Given the description of an element on the screen output the (x, y) to click on. 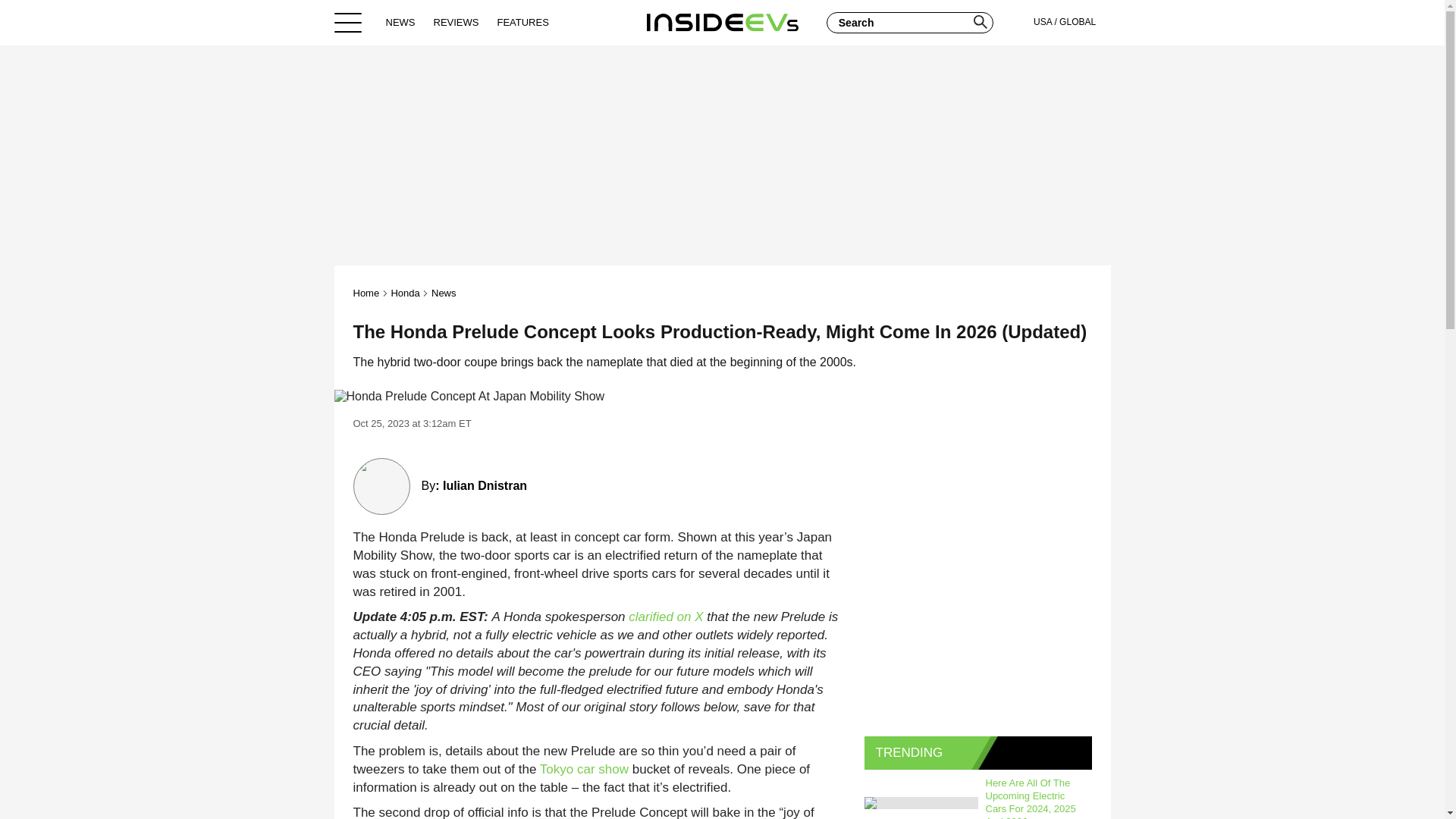
Iulian Dnistran (484, 485)
News (443, 292)
Home (366, 293)
Honda (404, 292)
Tokyo car show (584, 769)
Home (721, 22)
REVIEWS (456, 22)
NEWS (399, 22)
clarified on X (665, 616)
FEATURES (522, 22)
